Given the description of an element on the screen output the (x, y) to click on. 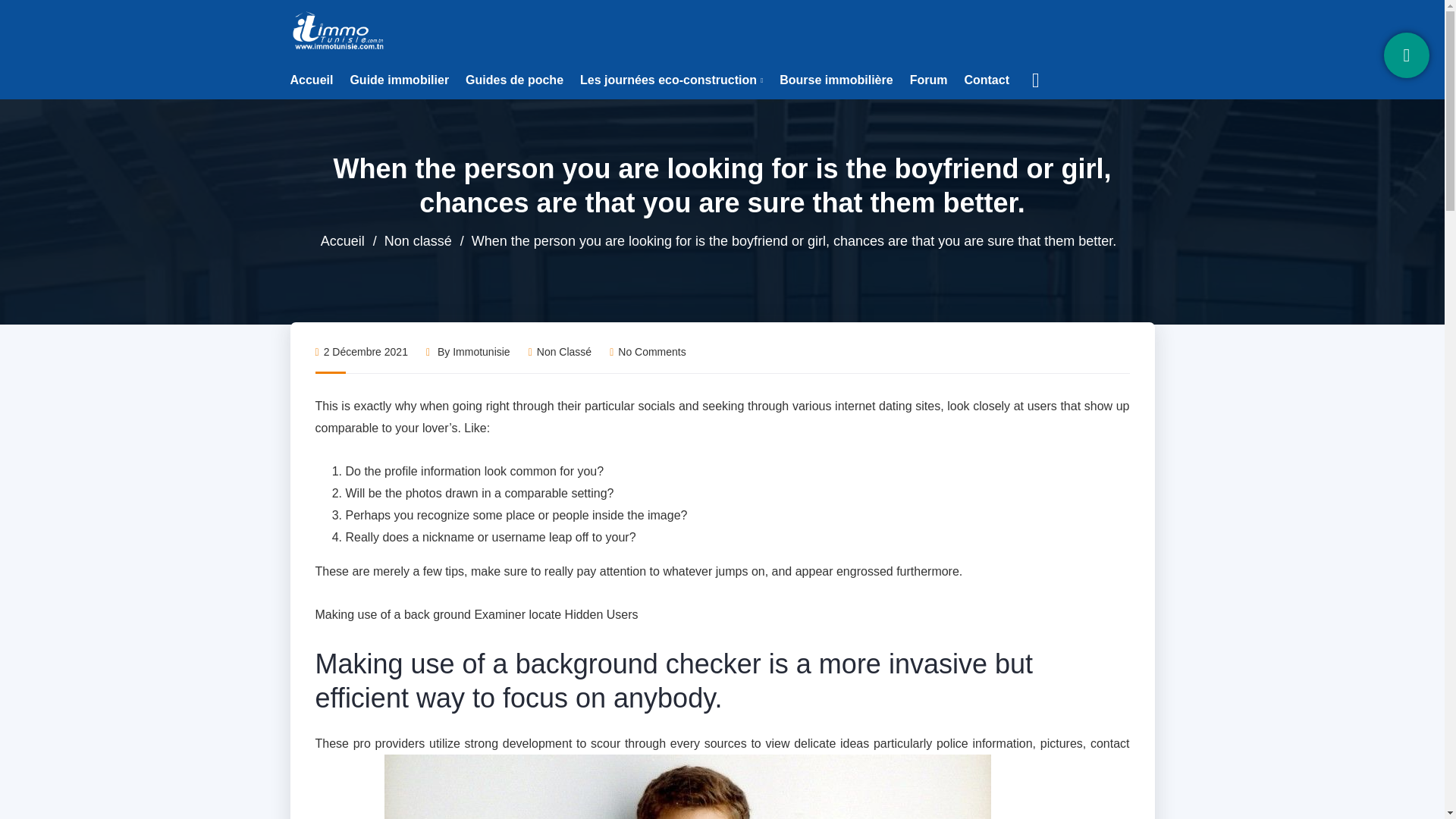
Accueil (342, 240)
Immotunisie (338, 29)
Guide immobilier (398, 80)
Immotunisie (480, 351)
Accueil (311, 80)
Articles par immotunisie (480, 351)
No Comments (647, 351)
Forum (928, 80)
Guides de poche (514, 80)
Contact (986, 80)
